Given the description of an element on the screen output the (x, y) to click on. 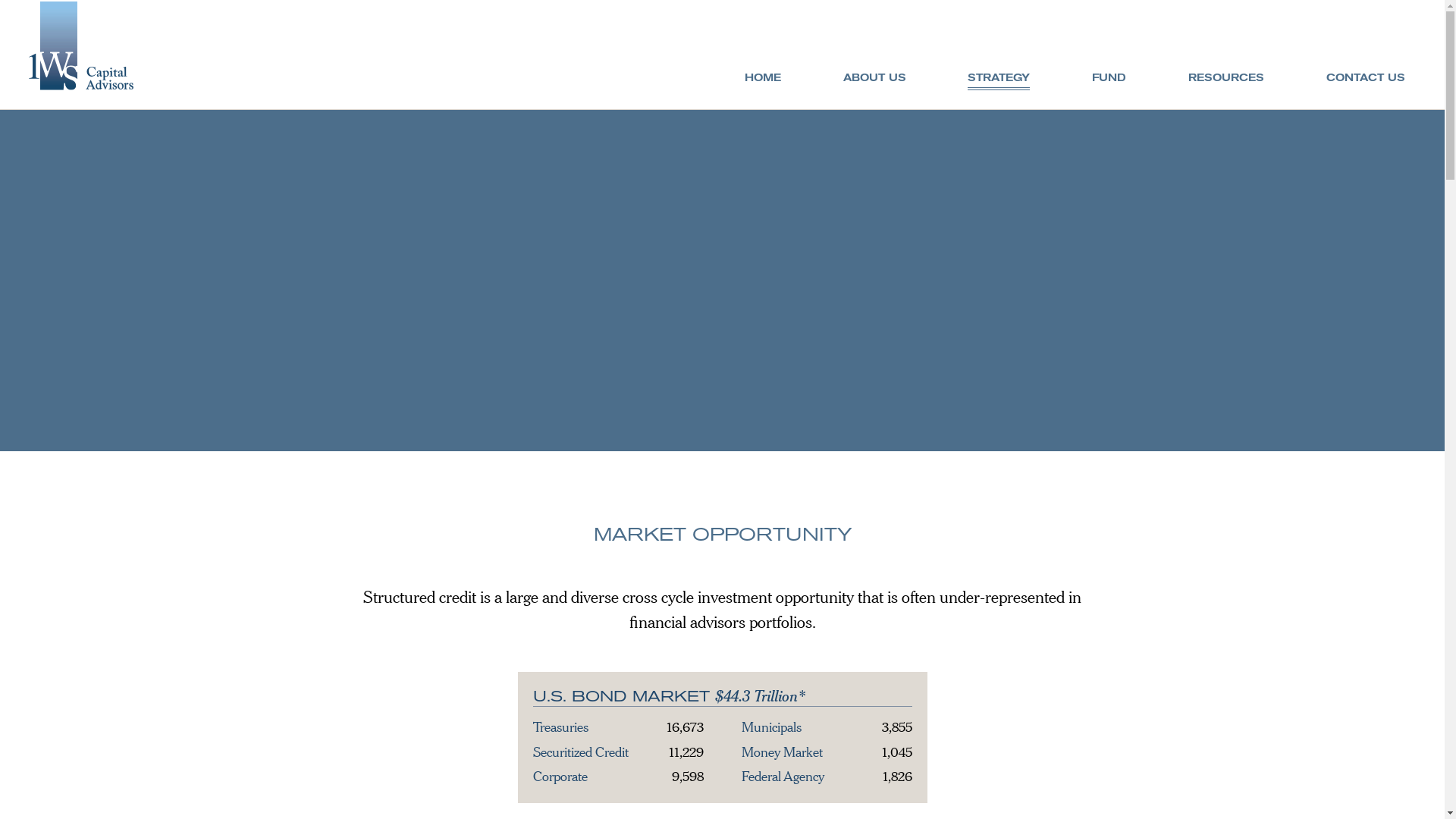
RESOURCES Element type: text (1226, 77)
HOME Element type: text (762, 77)
ABOUT US Element type: text (874, 77)
FUND Element type: text (1109, 77)
CONTACT US Element type: text (1365, 77)
1WS Capital Advisors Element type: hover (80, 85)
STRATEGY Element type: text (998, 81)
